Given the description of an element on the screen output the (x, y) to click on. 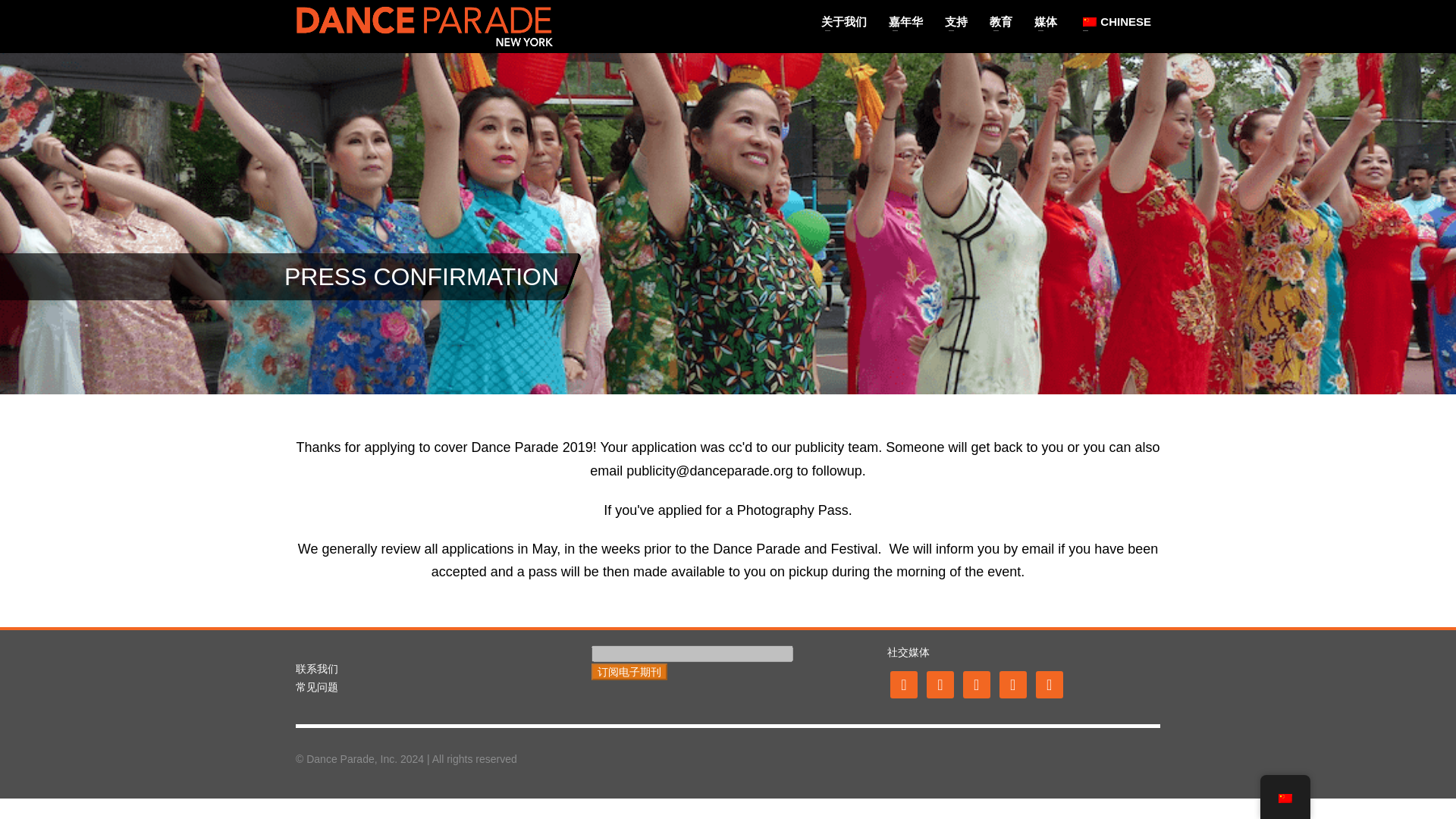
facebook (903, 683)
10,000 dancers on Broadway, NYC each May! (424, 26)
Default Label (1012, 683)
instagram (976, 683)
Twitter (939, 683)
tiktok (1048, 683)
Facebook (903, 683)
Instagram (976, 683)
twitter (939, 683)
Chinese (1089, 20)
youtube (1012, 683)
CHINESE (1115, 21)
